Given the description of an element on the screen output the (x, y) to click on. 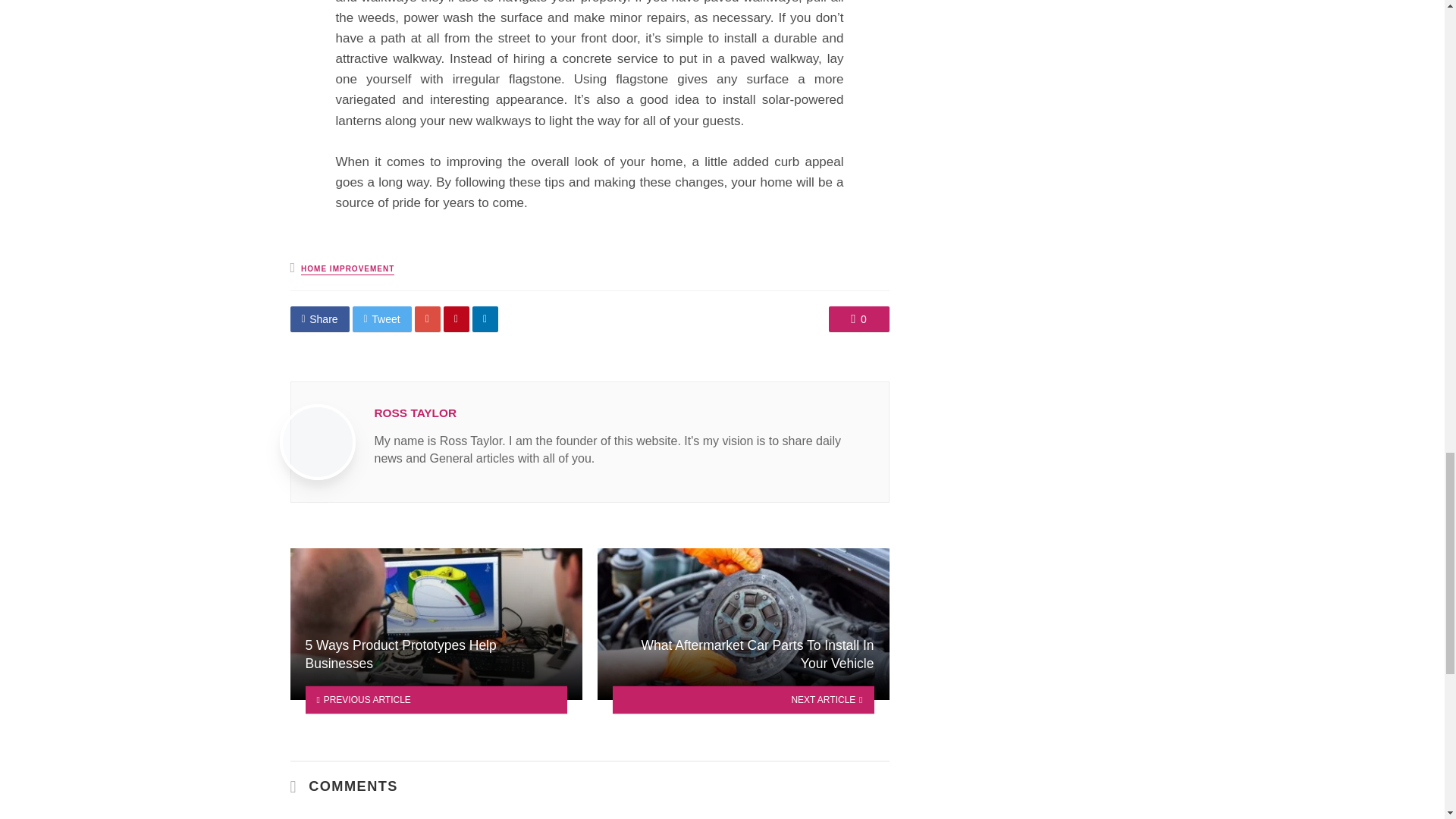
Share on Facebook (319, 319)
